Given the description of an element on the screen output the (x, y) to click on. 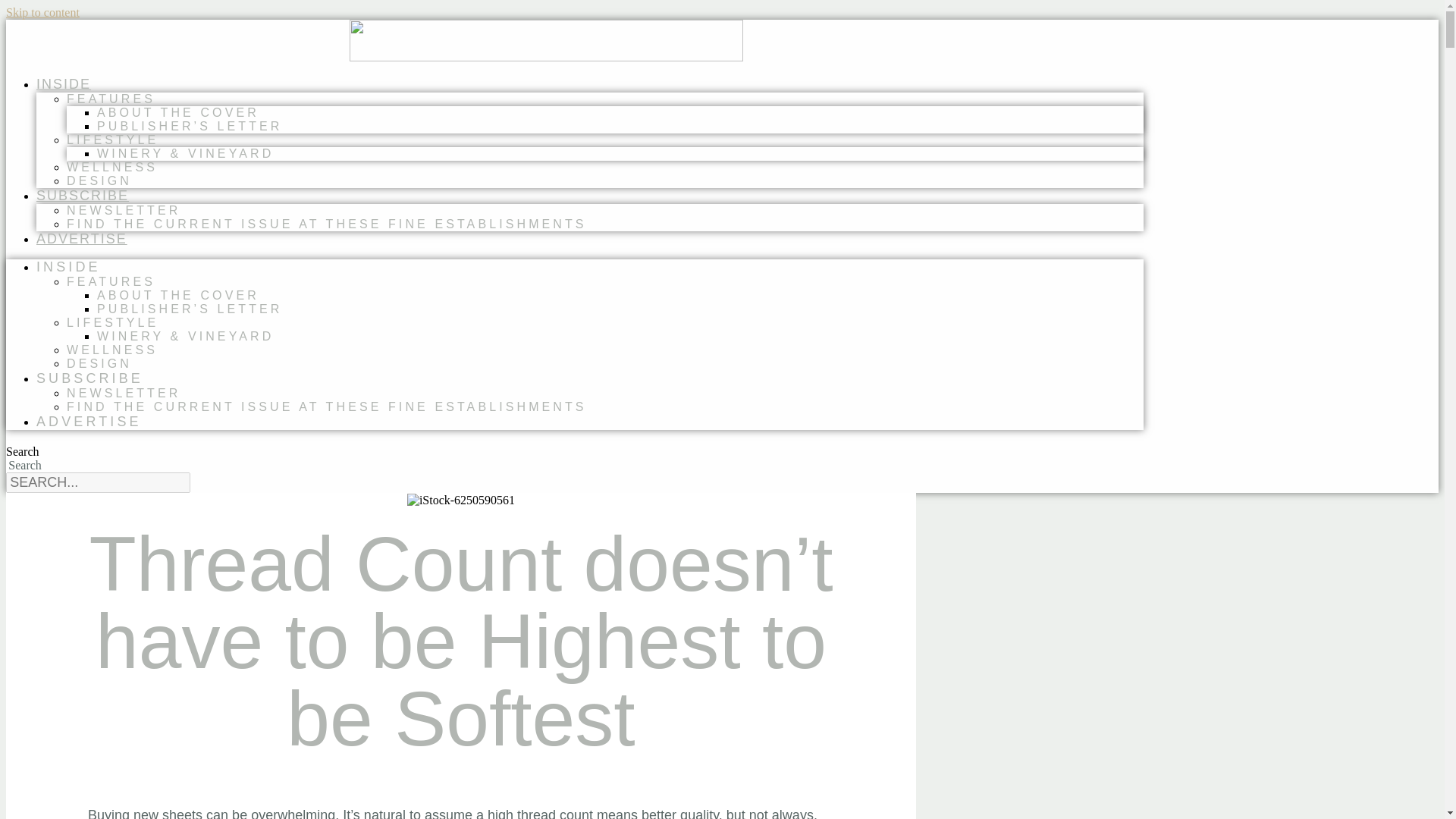
FEATURES (110, 281)
Skip to content (42, 11)
FEATURES (110, 98)
DESIGN (99, 180)
WELLNESS (111, 166)
INSIDE (68, 266)
FIND THE CURRENT ISSUE AT THESE FINE ESTABLISHMENTS (326, 406)
SUBSCRIBE (82, 195)
FIND THE CURRENT ISSUE AT THESE FINE ESTABLISHMENTS (326, 223)
DESIGN (99, 363)
